Given the description of an element on the screen output the (x, y) to click on. 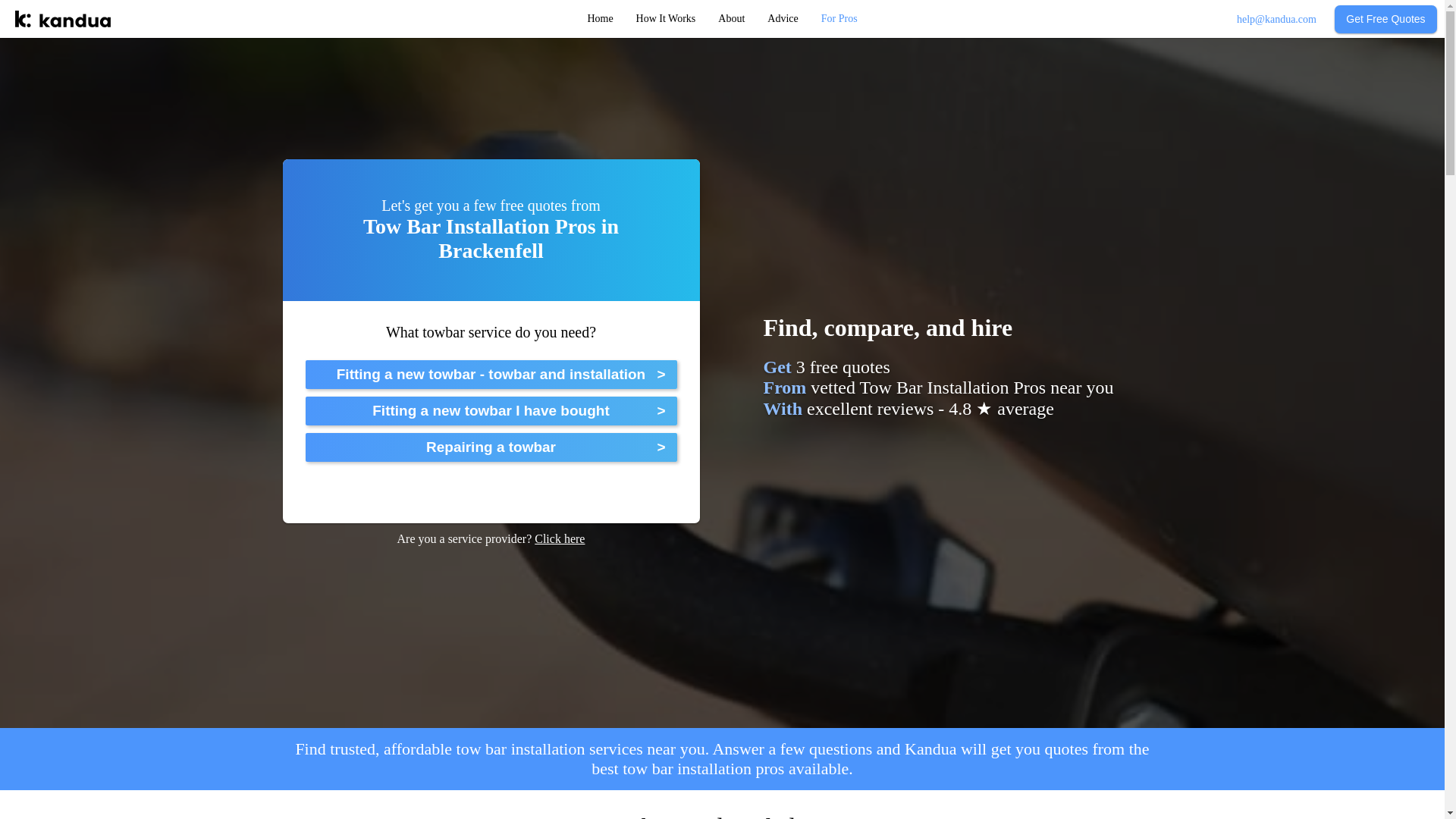
Fitting a new towbar I have bought (490, 410)
Repairing a towbar (490, 447)
Home (599, 19)
For Pros (838, 19)
Get Free Quotes (1386, 18)
Click here (559, 538)
Fitting a new towbar - towbar and installation (490, 374)
About (731, 19)
Advice (782, 19)
